Given the description of an element on the screen output the (x, y) to click on. 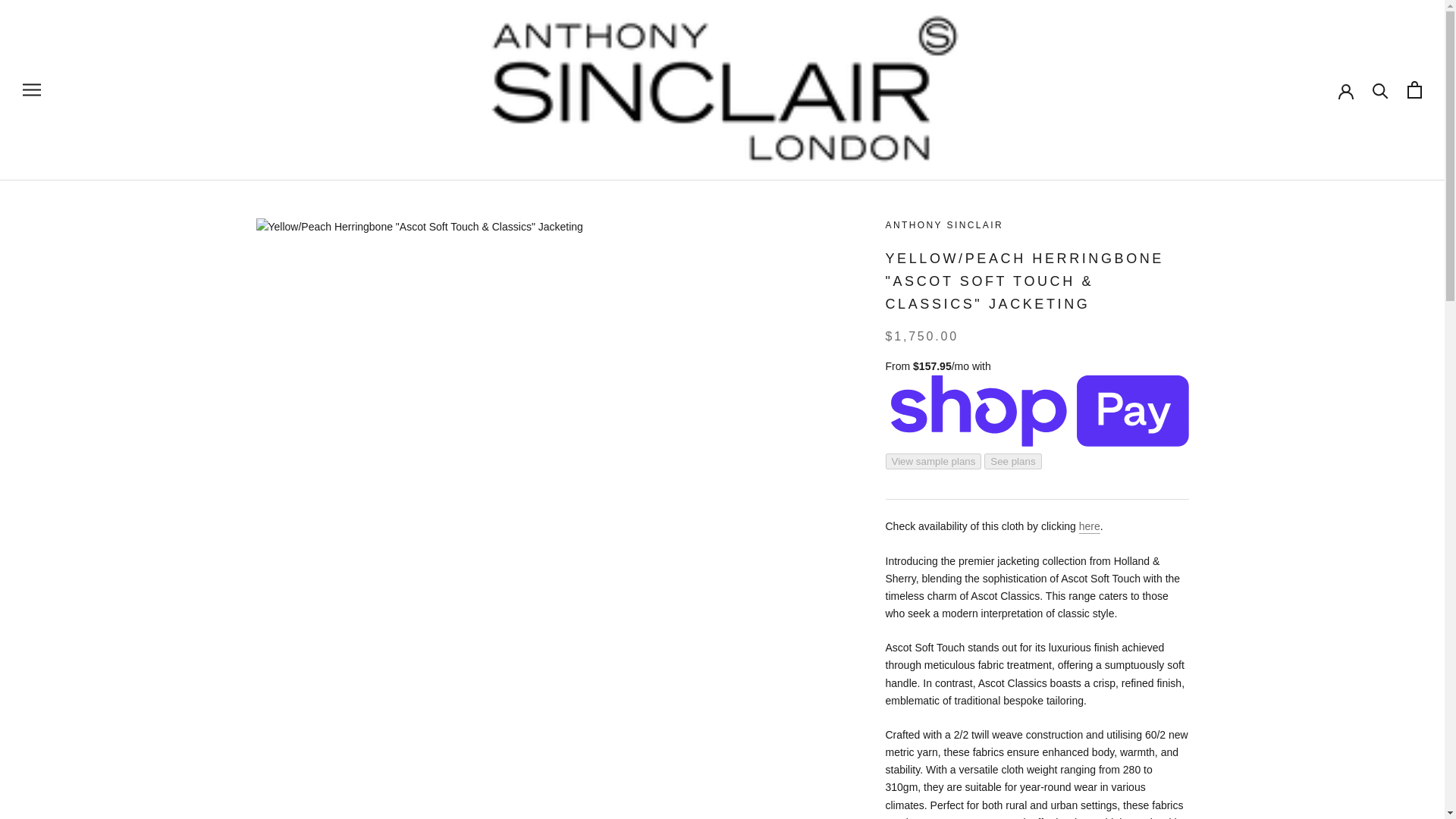
here (1089, 526)
ANTHONY SINCLAIR (944, 225)
